Given the description of an element on the screen output the (x, y) to click on. 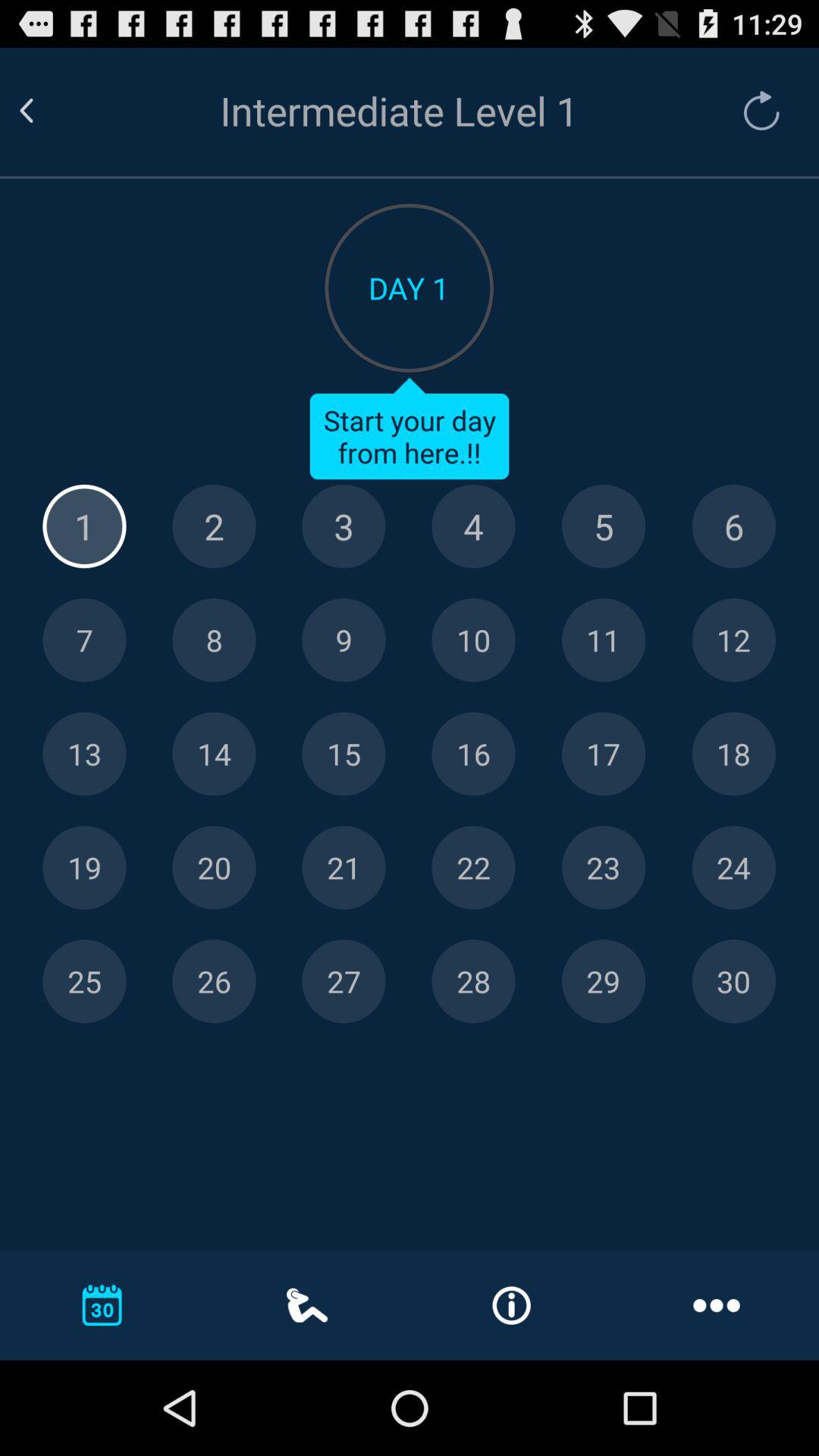
enter 8 (213, 639)
